Given the description of an element on the screen output the (x, y) to click on. 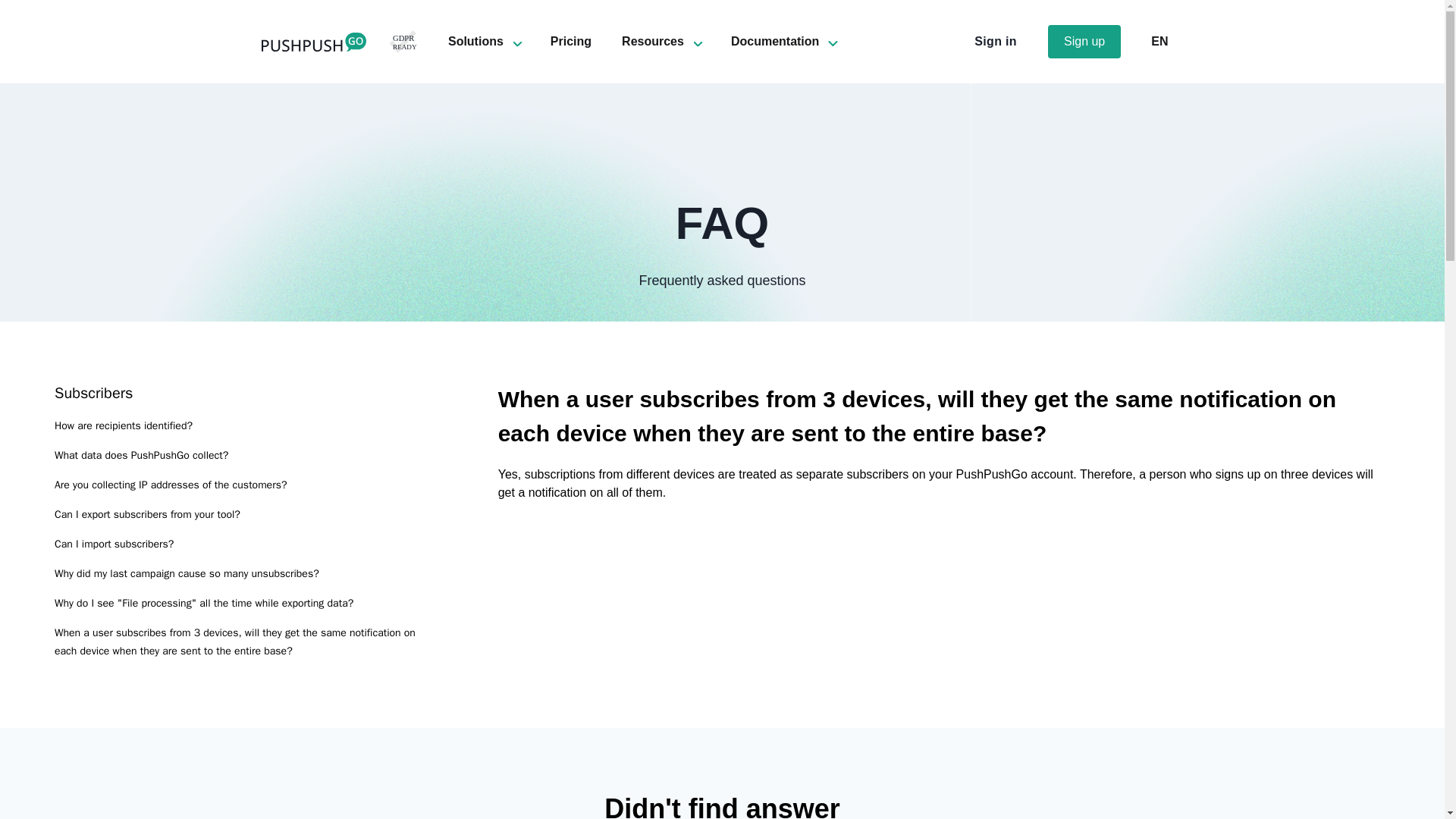
EN (1159, 41)
Documentation (774, 41)
Resources (652, 41)
Sign up (1084, 41)
Pricing (570, 41)
Sign in (995, 41)
Solutions (475, 41)
